Given the description of an element on the screen output the (x, y) to click on. 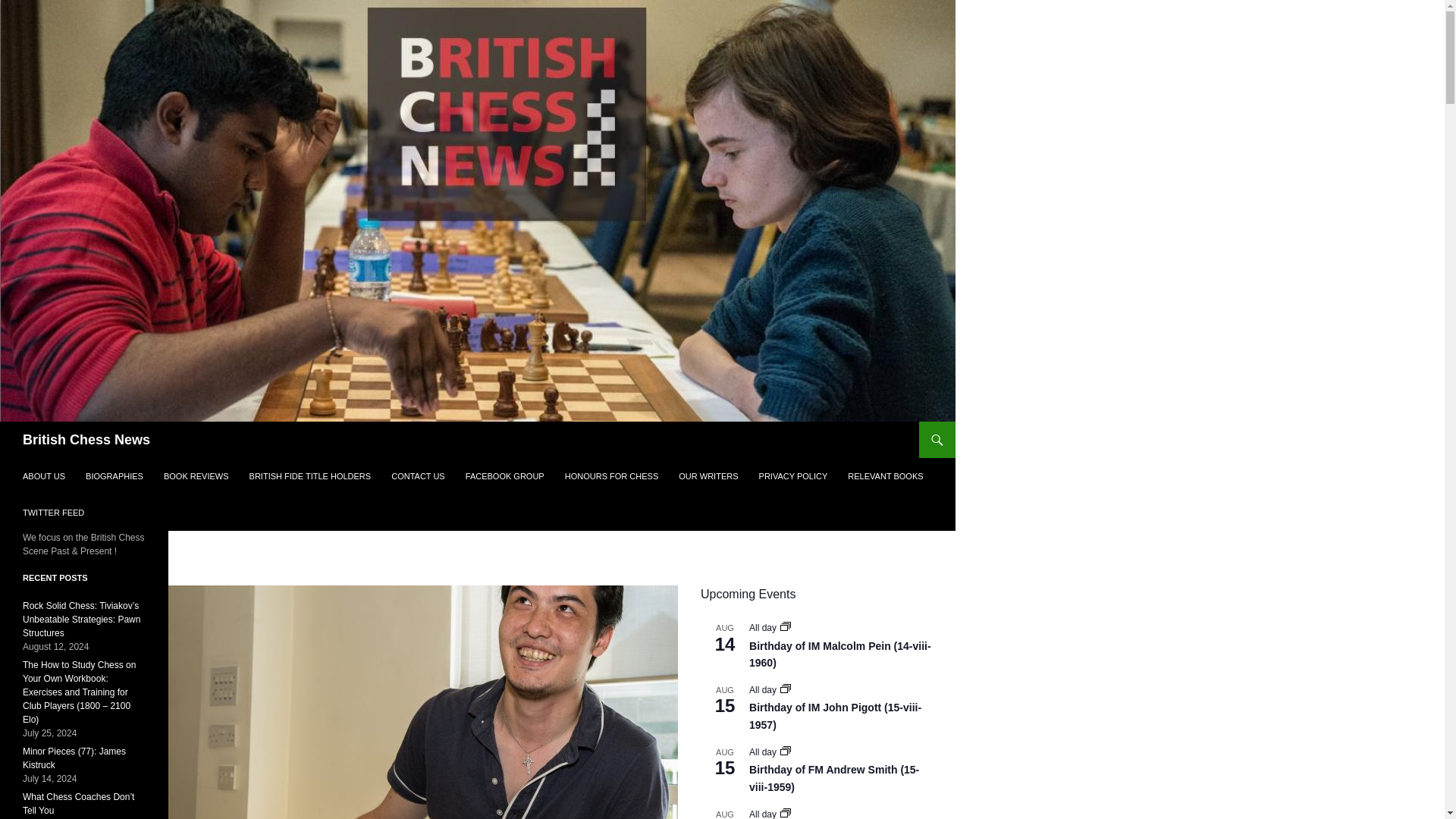
FACEBOOK GROUP (505, 475)
CONTACT US (417, 475)
OUR WRITERS (707, 475)
Event Series (785, 812)
Event Series (785, 689)
HONOURS FOR CHESS (611, 475)
Event Series (785, 687)
British Chess News (86, 439)
Event Series (785, 627)
Event Series (785, 625)
